Given the description of an element on the screen output the (x, y) to click on. 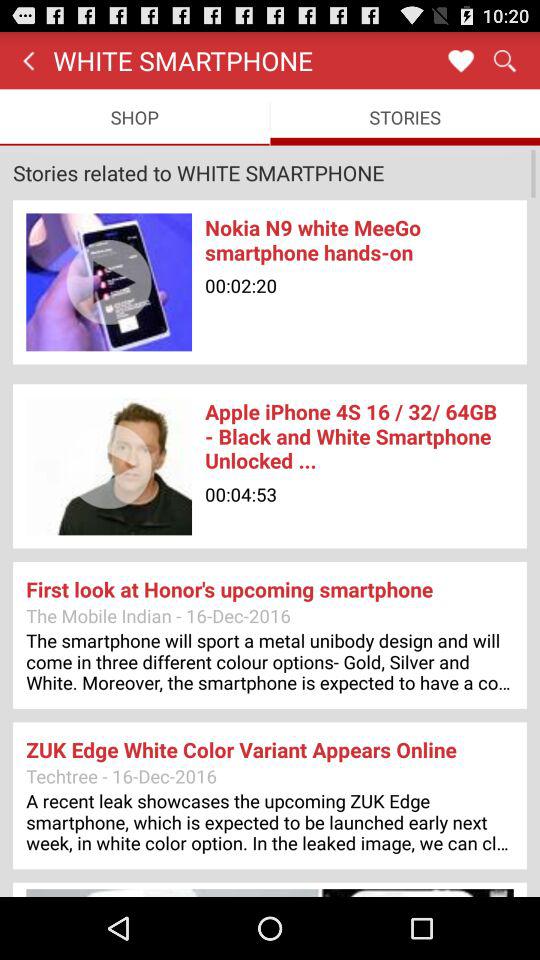
select icon next to stories (134, 116)
